Given the description of an element on the screen output the (x, y) to click on. 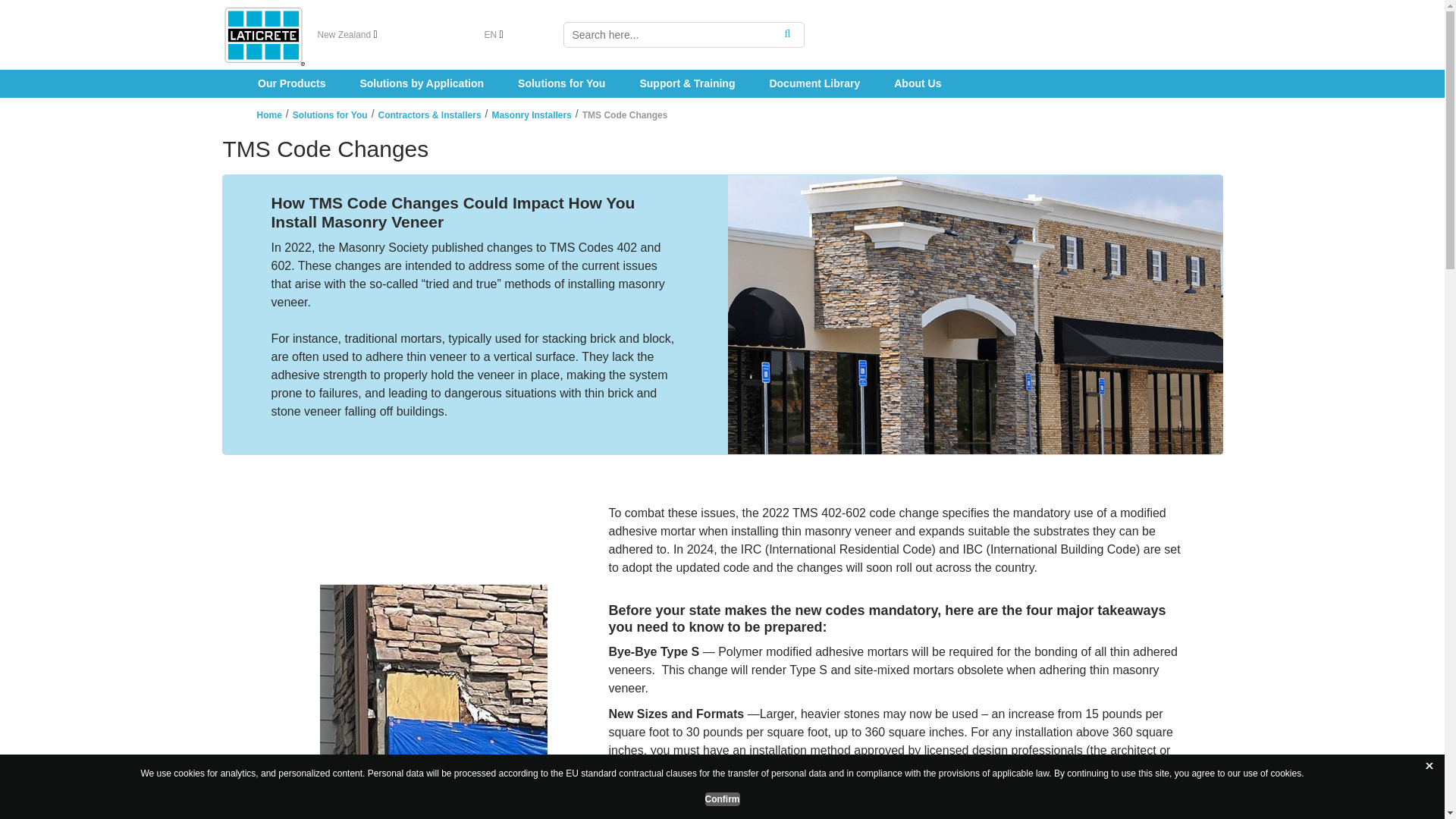
TMS Code Changes (625, 114)
Masonry Installers (531, 114)
Solutions for You (330, 114)
Laticrete Logo (262, 35)
Home (268, 114)
TMS Code Changes (722, 148)
